Given the description of an element on the screen output the (x, y) to click on. 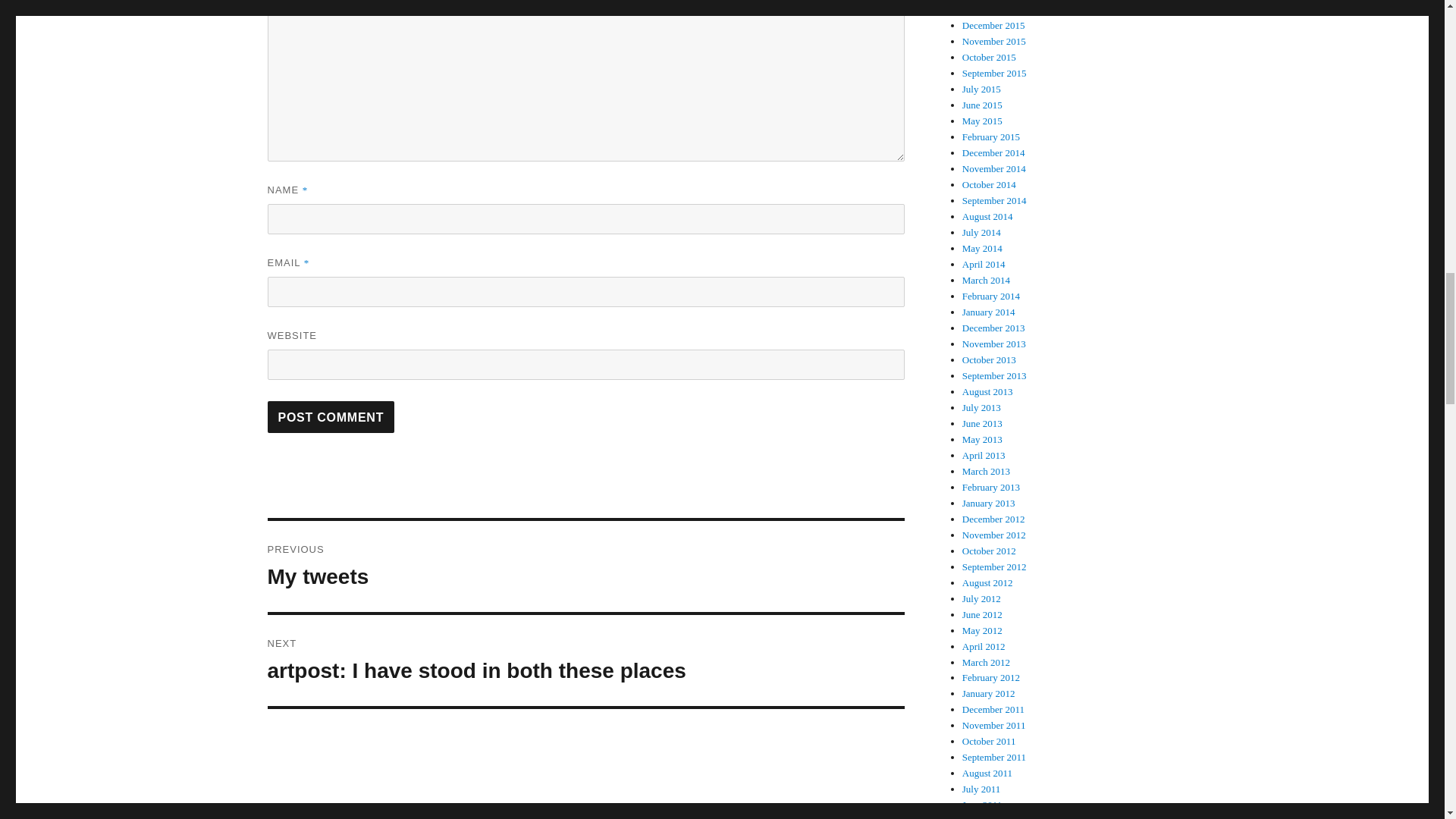
Post Comment (330, 417)
Post Comment (330, 417)
